Given the description of an element on the screen output the (x, y) to click on. 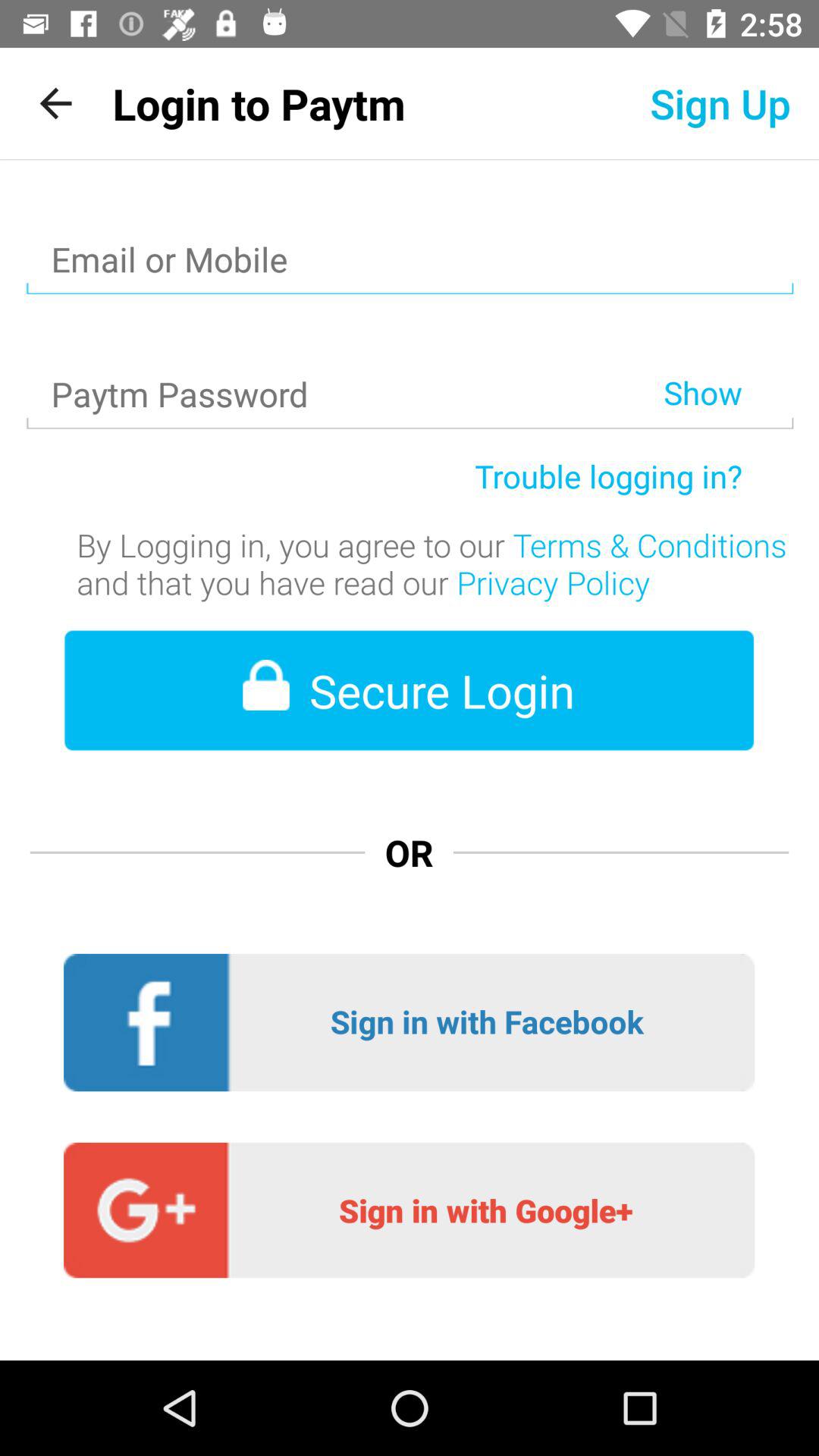
click login to paytm (258, 103)
